Given the description of an element on the screen output the (x, y) to click on. 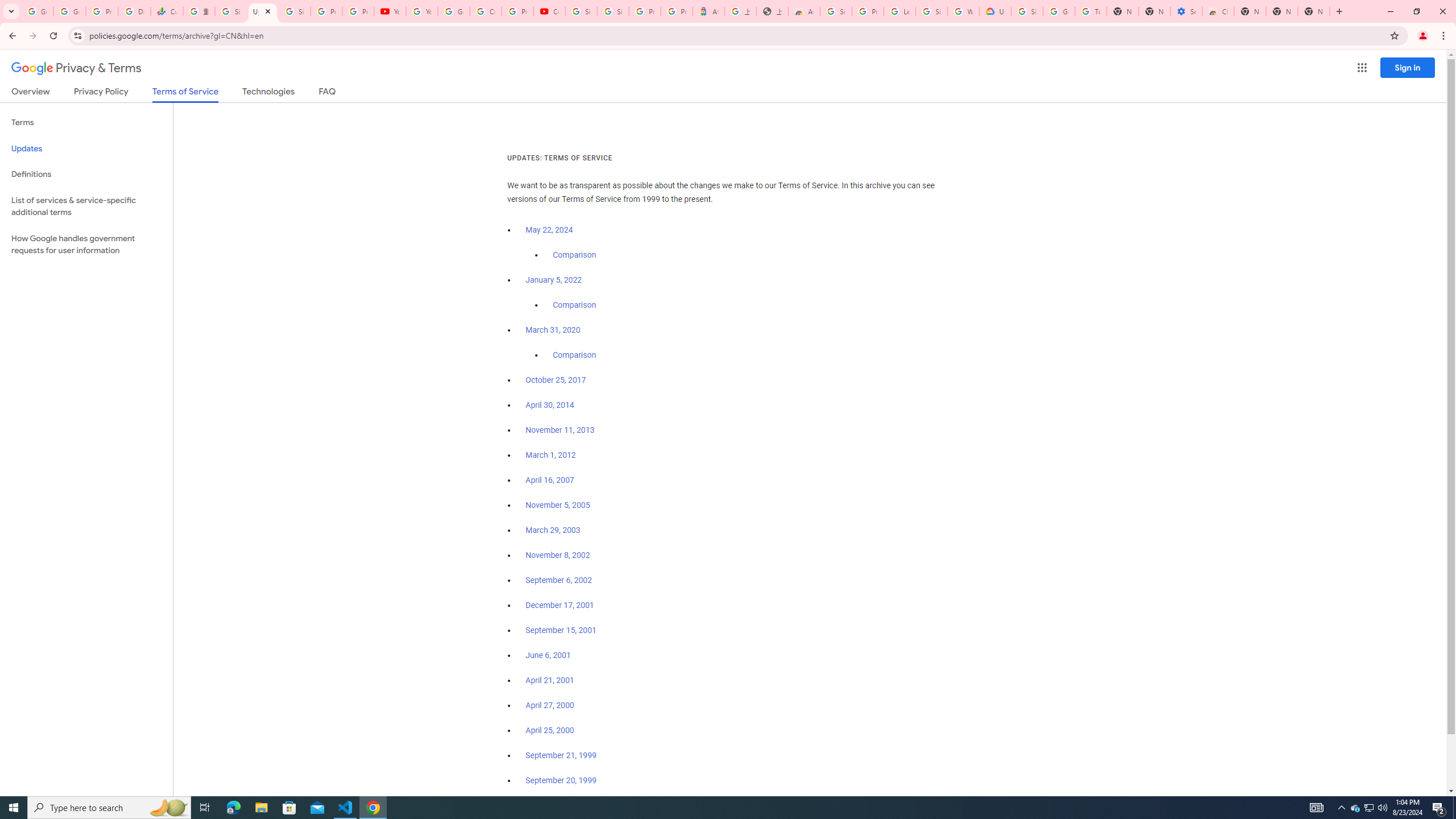
April 30, 2014 (550, 405)
March 1, 2012 (550, 455)
May 22, 2024 (549, 230)
November 5, 2005 (557, 505)
Comparison (574, 355)
